Given the description of an element on the screen output the (x, y) to click on. 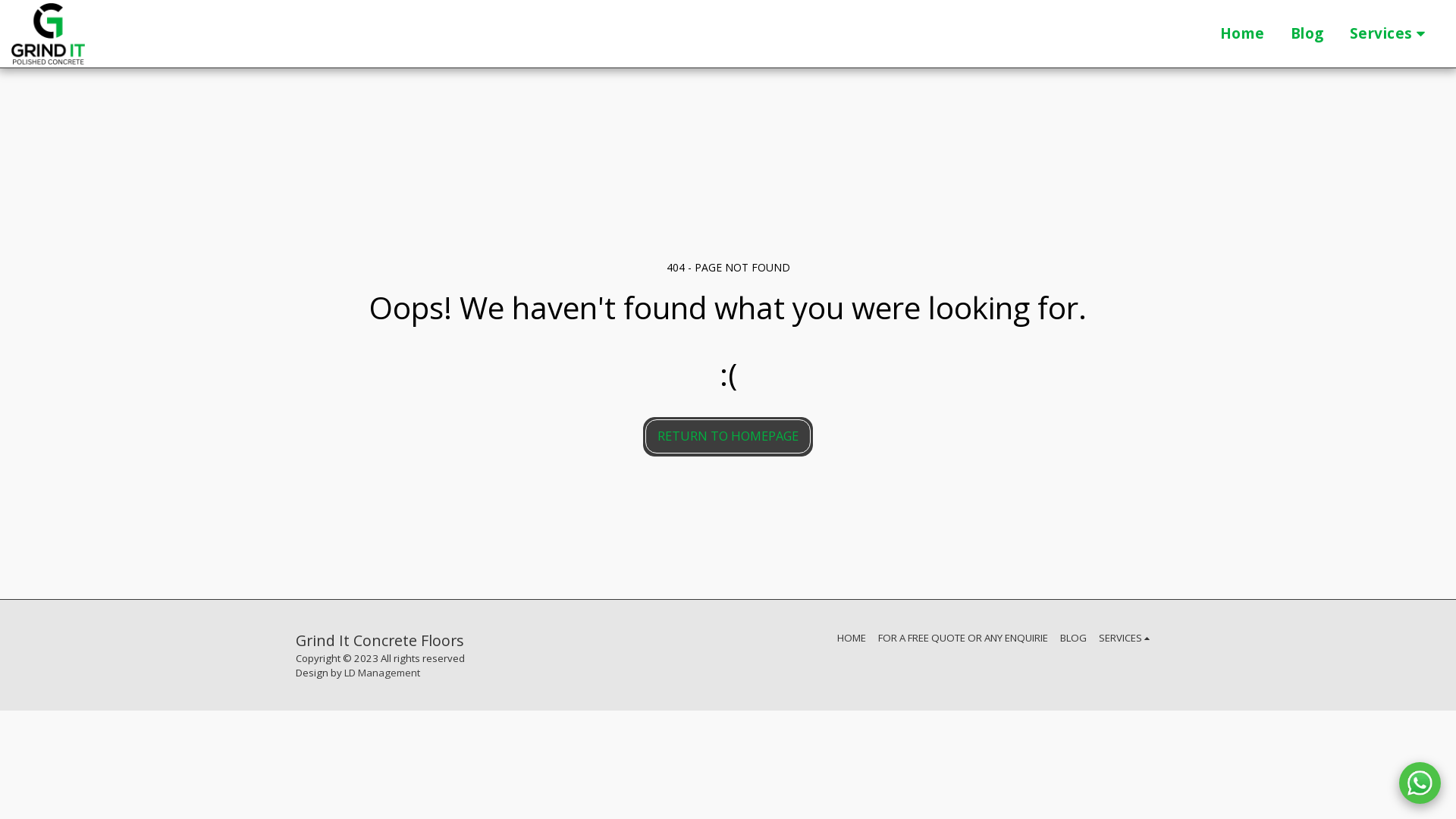
Blog Element type: text (1306, 33)
Services   Element type: text (1389, 33)
HOME Element type: text (851, 637)
FOR A FREE QUOTE OR ANY ENQUIRIE Element type: text (963, 637)
RETURN TO HOMEPAGE Element type: text (727, 436)
SERVICES   Element type: text (1126, 637)
LD Management Element type: text (382, 672)
BLOG Element type: text (1073, 637)
Home Element type: text (1242, 33)
